Given the description of an element on the screen output the (x, y) to click on. 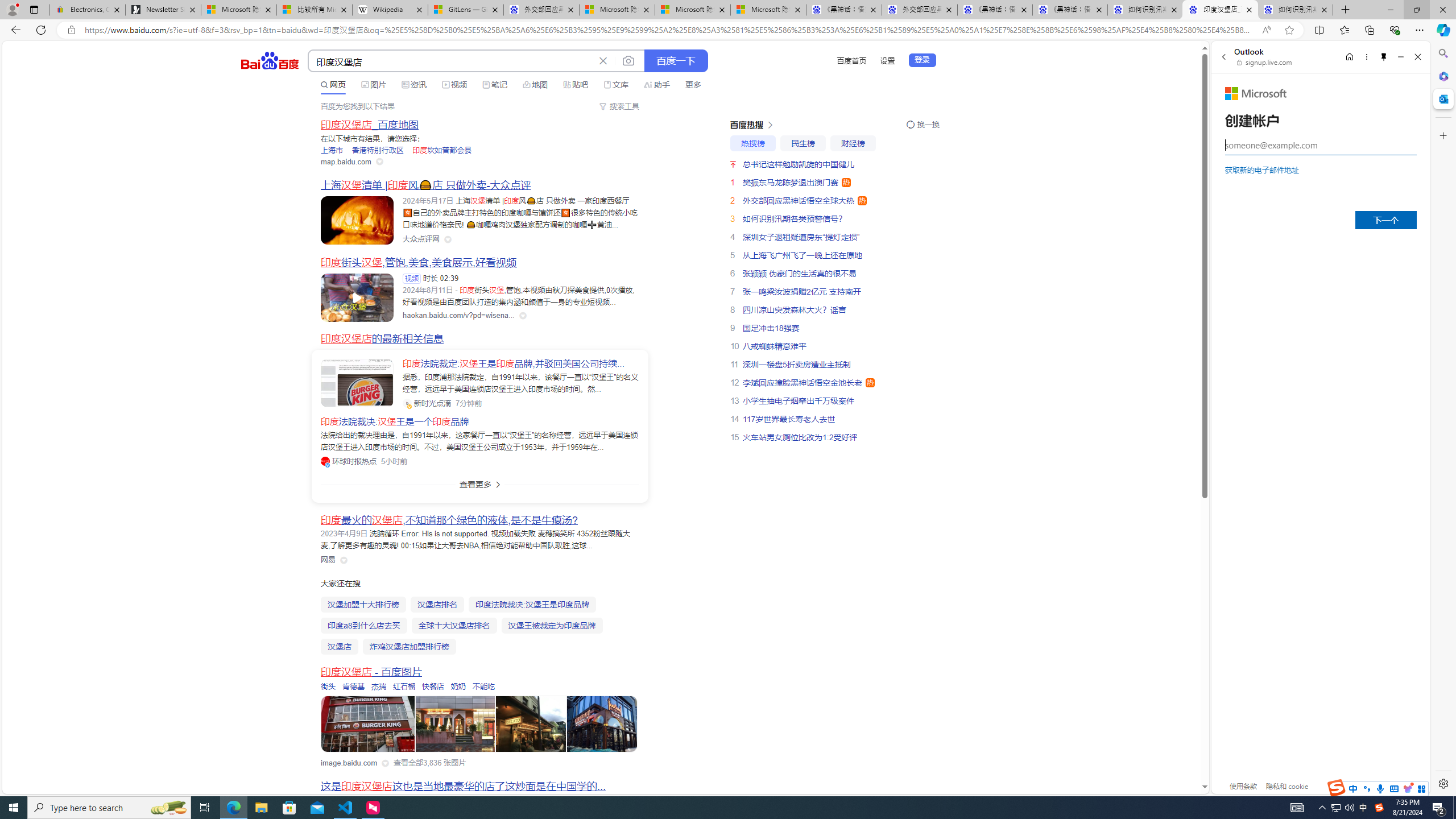
Microsoft (1255, 93)
